Given the description of an element on the screen output the (x, y) to click on. 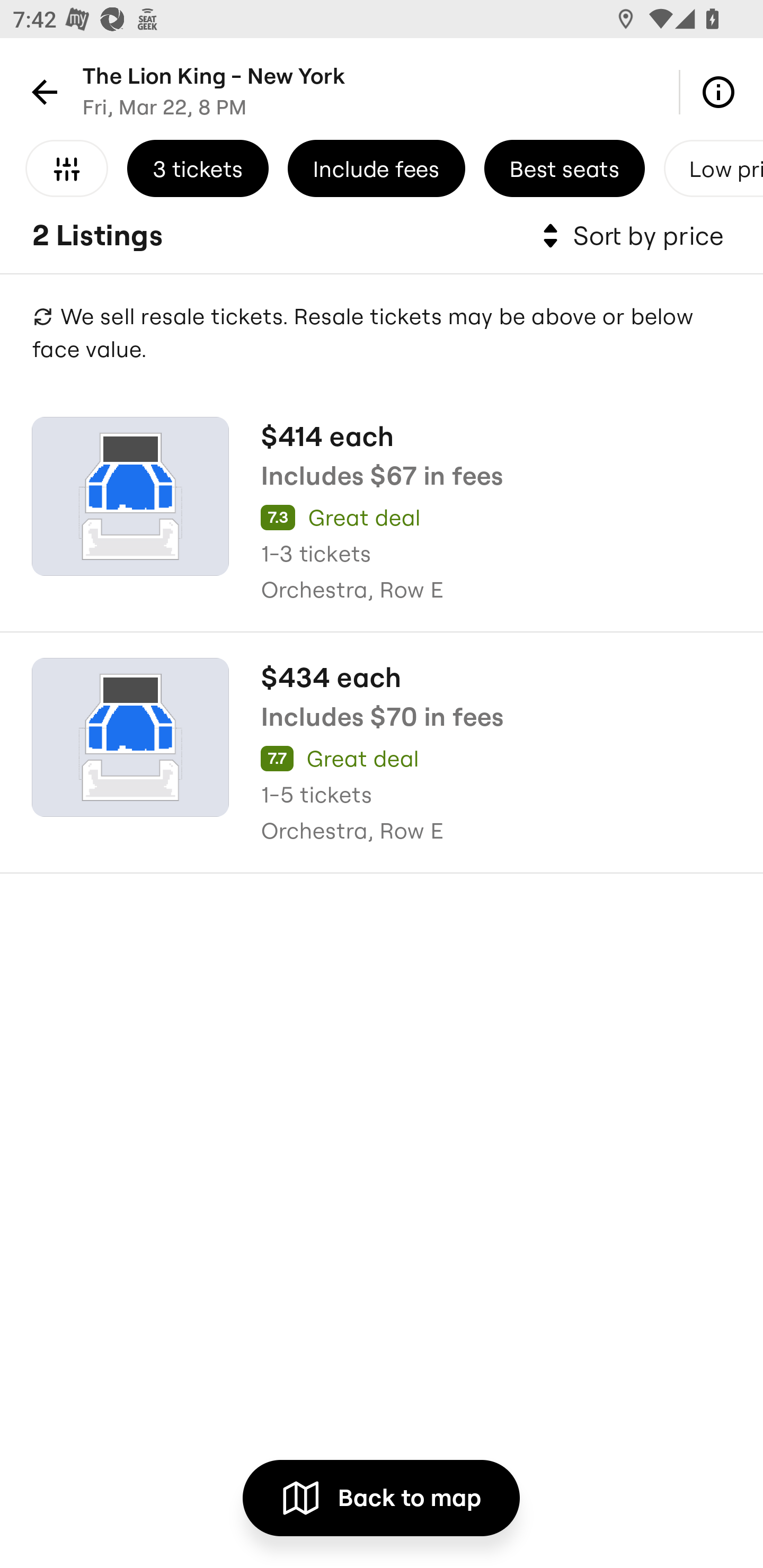
Back (41, 91)
The Lion King - New York Fri, Mar 22, 8 PM (213, 91)
Info (721, 91)
Filters and Accessible Seating (66, 168)
3 tickets (197, 168)
Include fees (376, 168)
Best seats (564, 168)
Low prices (713, 168)
Sort by price (629, 235)
Back to map (380, 1497)
